Given the description of an element on the screen output the (x, y) to click on. 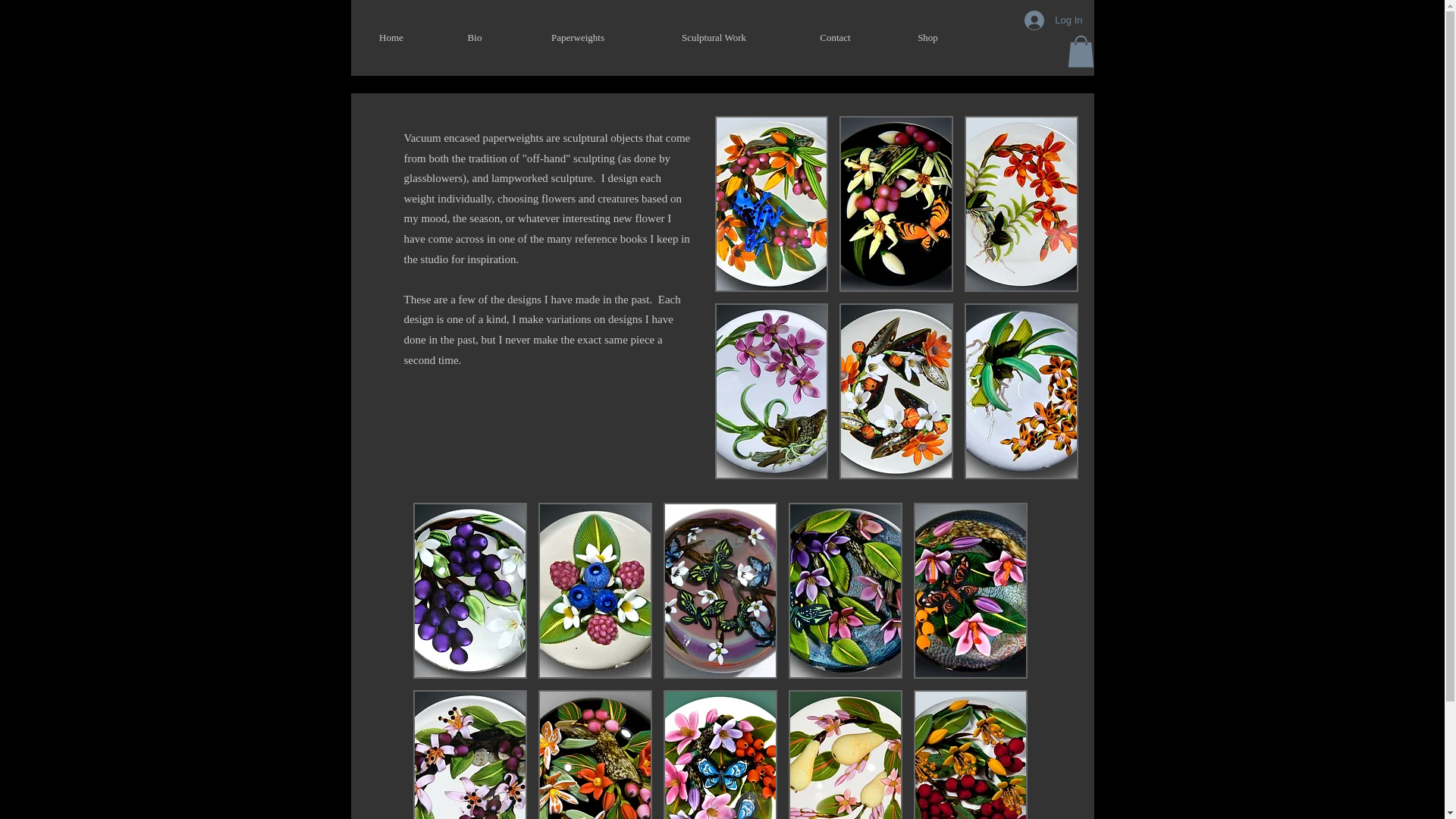
Contact (835, 38)
Log In (1053, 20)
Shop (928, 38)
Sculptural Work (714, 38)
Bio (474, 38)
Home (390, 38)
Paperweights (577, 38)
